Given the description of an element on the screen output the (x, y) to click on. 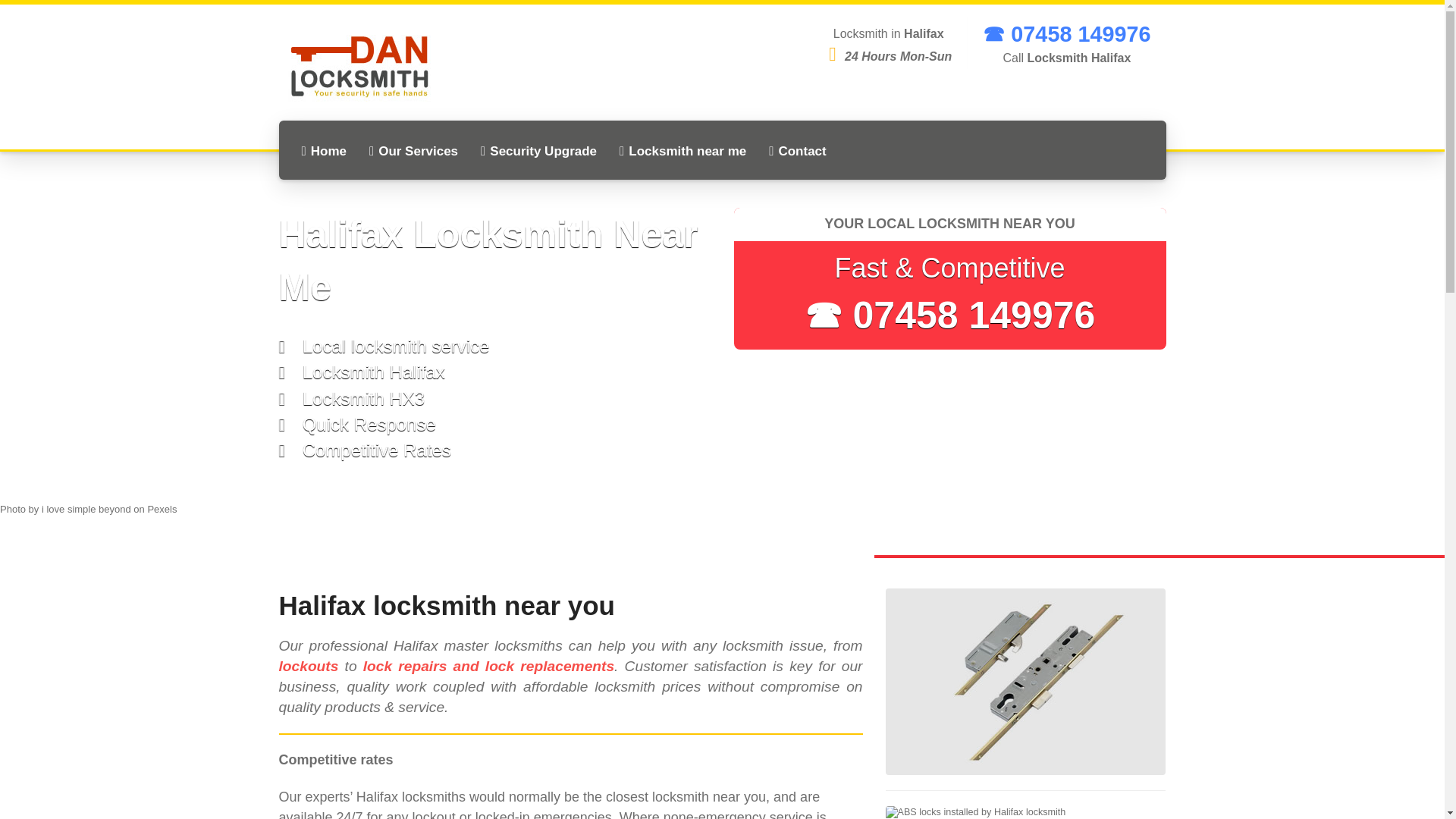
Pexels (161, 509)
Locksmith near me (682, 151)
Locksmith in Halifax (322, 151)
i love simple beyond (86, 509)
Contact (797, 151)
Home (322, 151)
Security Upgrade (538, 151)
Contact Halifax Locksmith (797, 151)
Security upgrade in Halifax (538, 151)
Our Halifax Locksmith Services (413, 151)
Our Services (413, 151)
Locksmith near me in Halifax (682, 151)
